Given the description of an element on the screen output the (x, y) to click on. 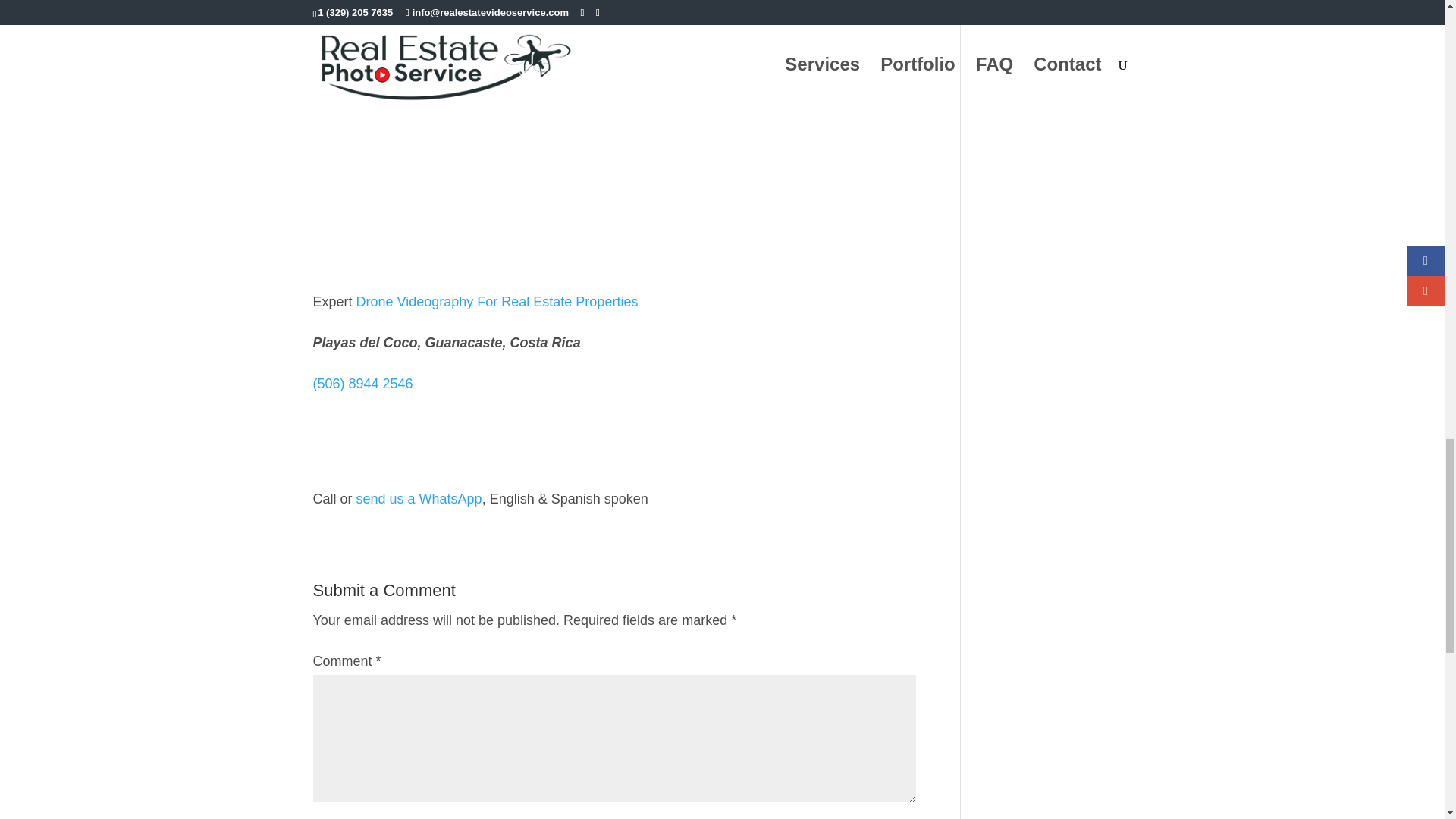
Drone Videography For Real Estate Properties (497, 301)
send us a WhatsApp (418, 498)
